Given the description of an element on the screen output the (x, y) to click on. 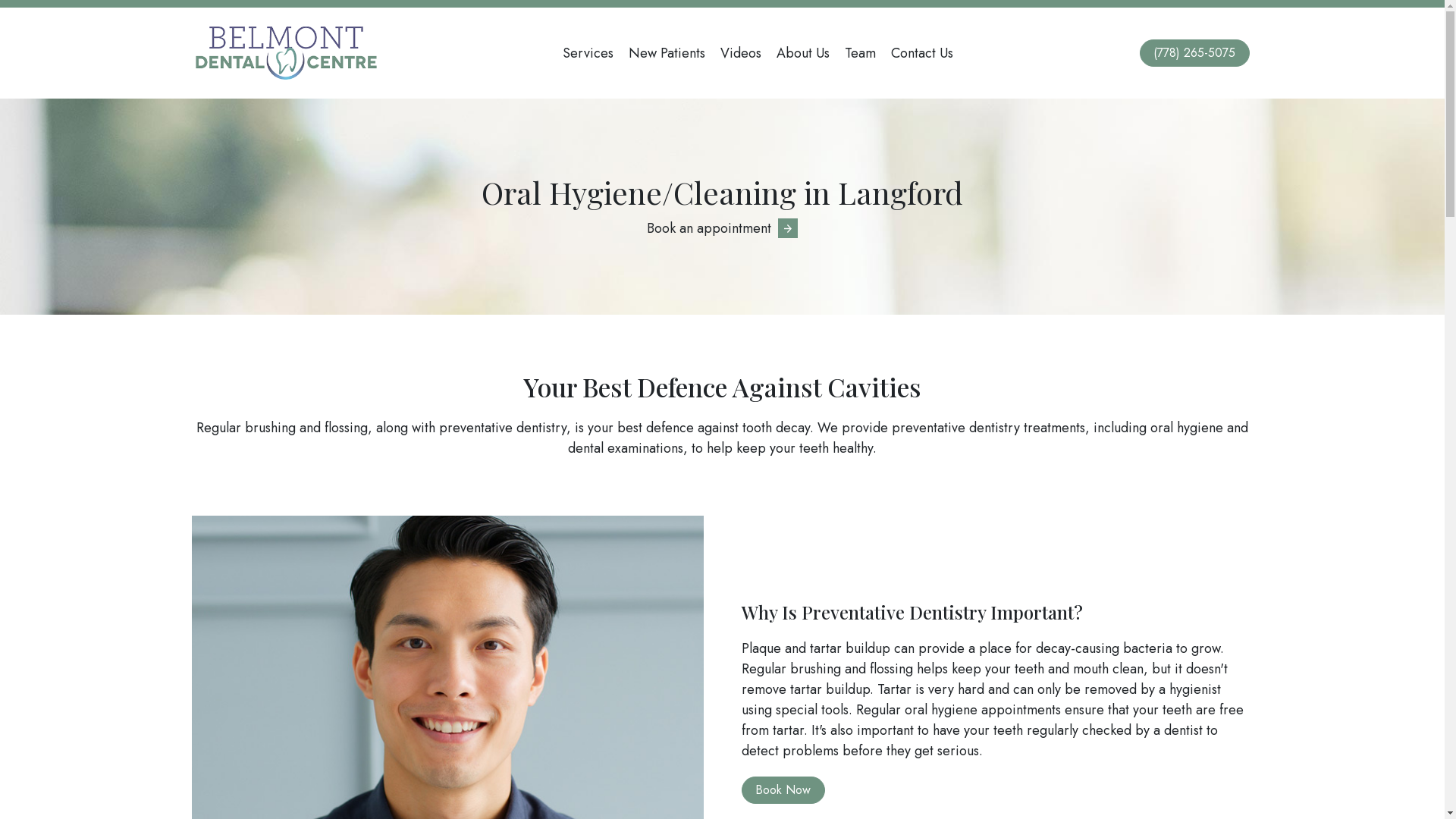
Team Element type: text (860, 53)
(778) 265-5075 Element type: text (1193, 52)
Services Element type: text (588, 53)
Book Now Element type: text (783, 789)
Book an appointment Element type: text (721, 228)
Videos Element type: text (740, 53)
Contact Us Element type: text (921, 53)
Skip to main content Element type: text (0, 0)
New Patients Element type: text (666, 53)
About Us Element type: text (802, 53)
